Given the description of an element on the screen output the (x, y) to click on. 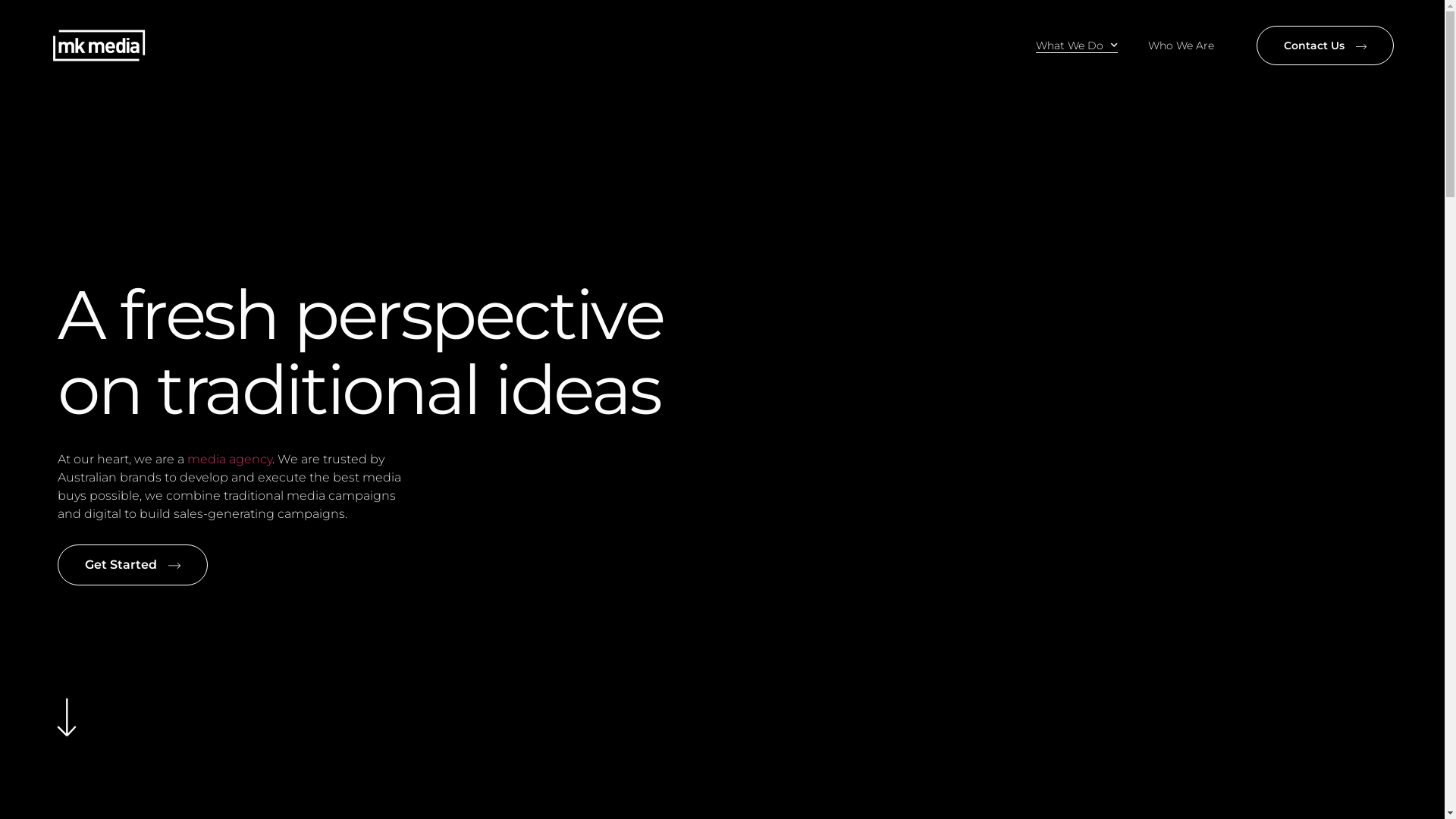
What We Do Element type: text (1076, 45)
Get Started Element type: text (132, 564)
Who We Are Element type: text (1181, 45)
Contact Us Element type: text (1324, 45)
media agency Element type: text (229, 458)
